Given the description of an element on the screen output the (x, y) to click on. 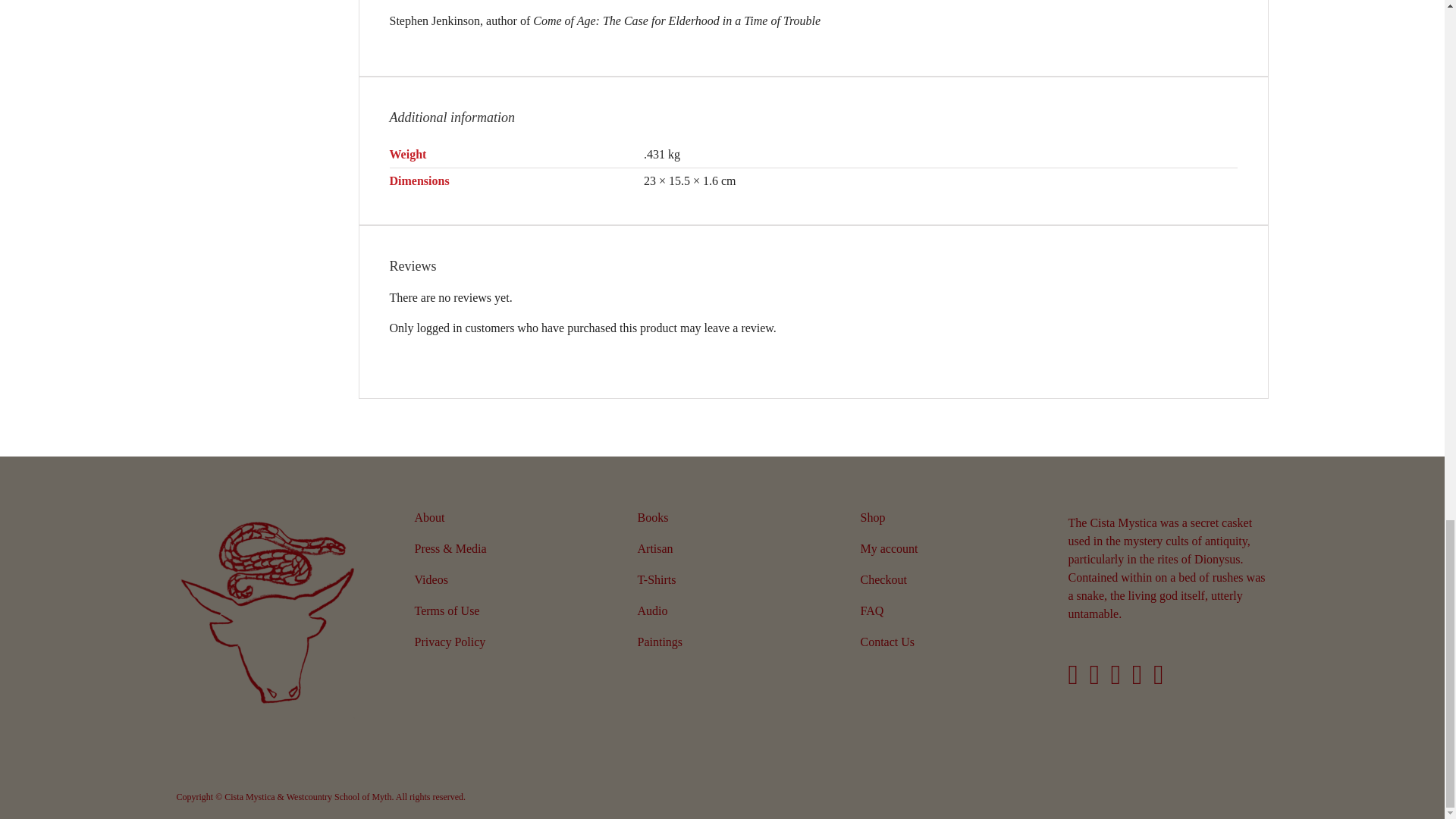
About (498, 517)
